Given the description of an element on the screen output the (x, y) to click on. 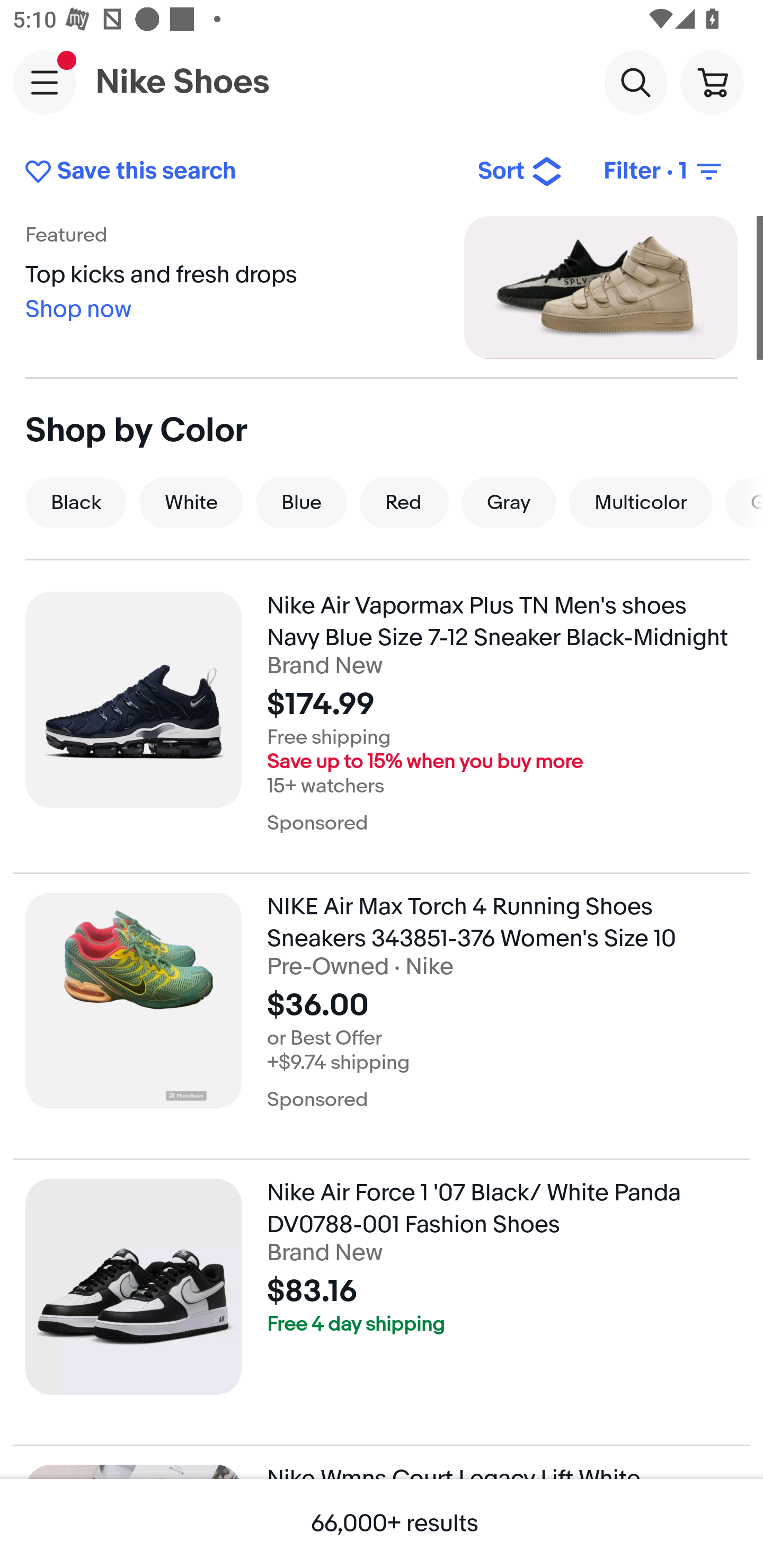
Main navigation, notification is pending, open (44, 82)
Search (635, 81)
Cart button shopping cart (711, 81)
Save this search (237, 171)
Sort (520, 171)
Filter • 1 Filter (1 applied) (663, 171)
Featured Top kicks and fresh drops Shop now (381, 287)
Black Black, Color (75, 502)
White White, Color (191, 502)
Blue Blue, Color (301, 502)
Red Red, Color (404, 502)
Gray Gray, Color (508, 502)
Multicolor Multicolor, Color (640, 502)
